Given the description of an element on the screen output the (x, y) to click on. 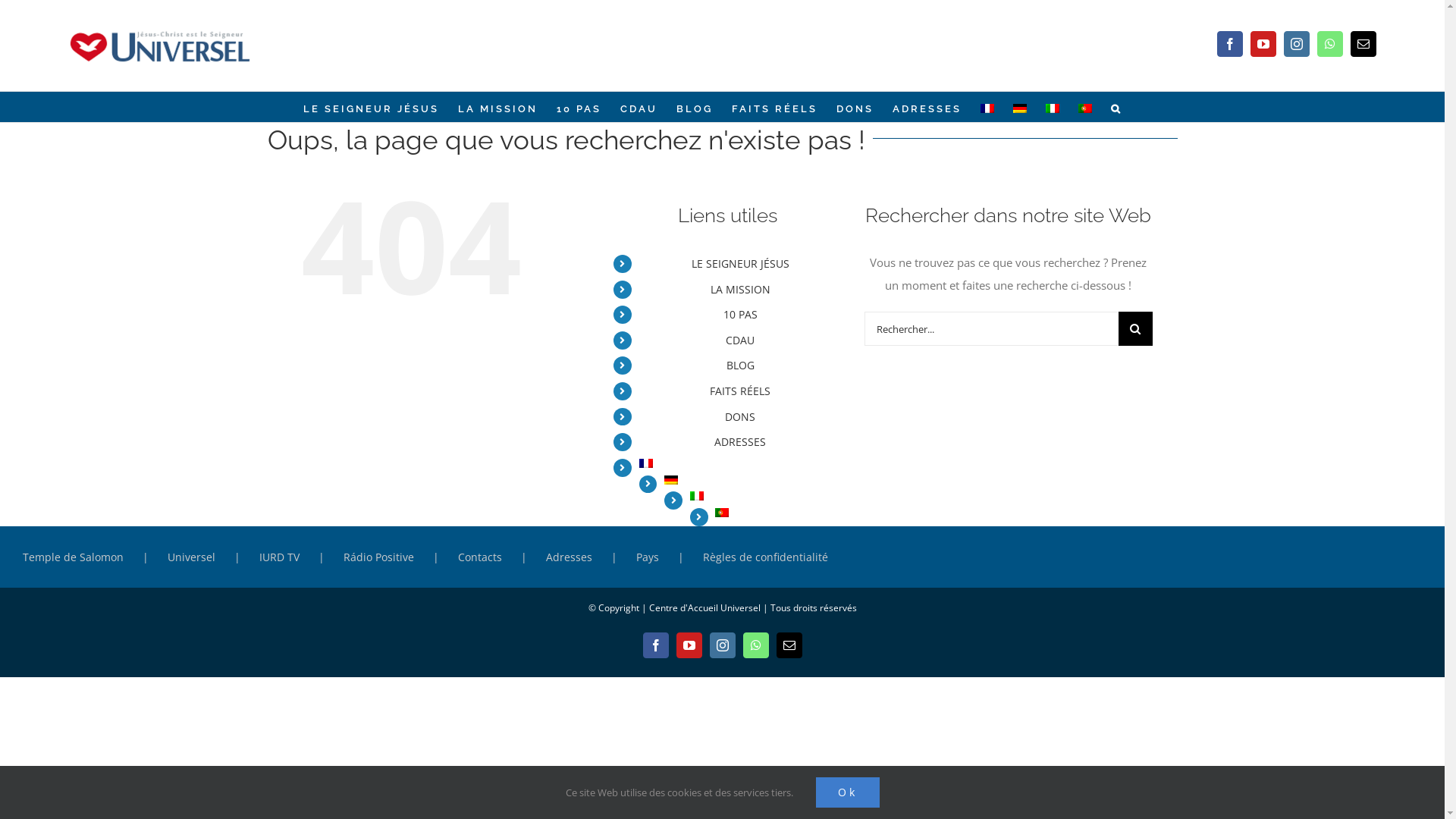
Contacts Element type: text (502, 556)
Email Element type: text (789, 645)
LA MISSION Element type: text (497, 106)
WhatsApp Element type: text (755, 645)
DONS Element type: text (739, 416)
ADRESSES Element type: text (926, 106)
ADRESSES Element type: text (739, 441)
LA MISSION Element type: text (740, 289)
Instagram Element type: text (1296, 43)
Email Element type: text (1363, 43)
Temple de Salomon Element type: text (94, 556)
Facebook Element type: text (655, 645)
Pays Element type: text (669, 556)
10 PAS Element type: text (740, 314)
Universel Element type: text (213, 556)
Recherche Element type: hover (1116, 106)
YouTube Element type: text (1263, 43)
BLOG Element type: text (740, 364)
CDAU Element type: text (638, 106)
DONS Element type: text (854, 106)
YouTube Element type: text (689, 645)
IURD TV Element type: text (301, 556)
10 PAS Element type: text (578, 106)
BLOG Element type: text (694, 106)
Ok Element type: text (847, 792)
Instagram Element type: text (722, 645)
Adresses Element type: text (591, 556)
Facebook Element type: text (1229, 43)
WhatsApp Element type: text (1330, 43)
CDAU Element type: text (739, 339)
